Given the description of an element on the screen output the (x, y) to click on. 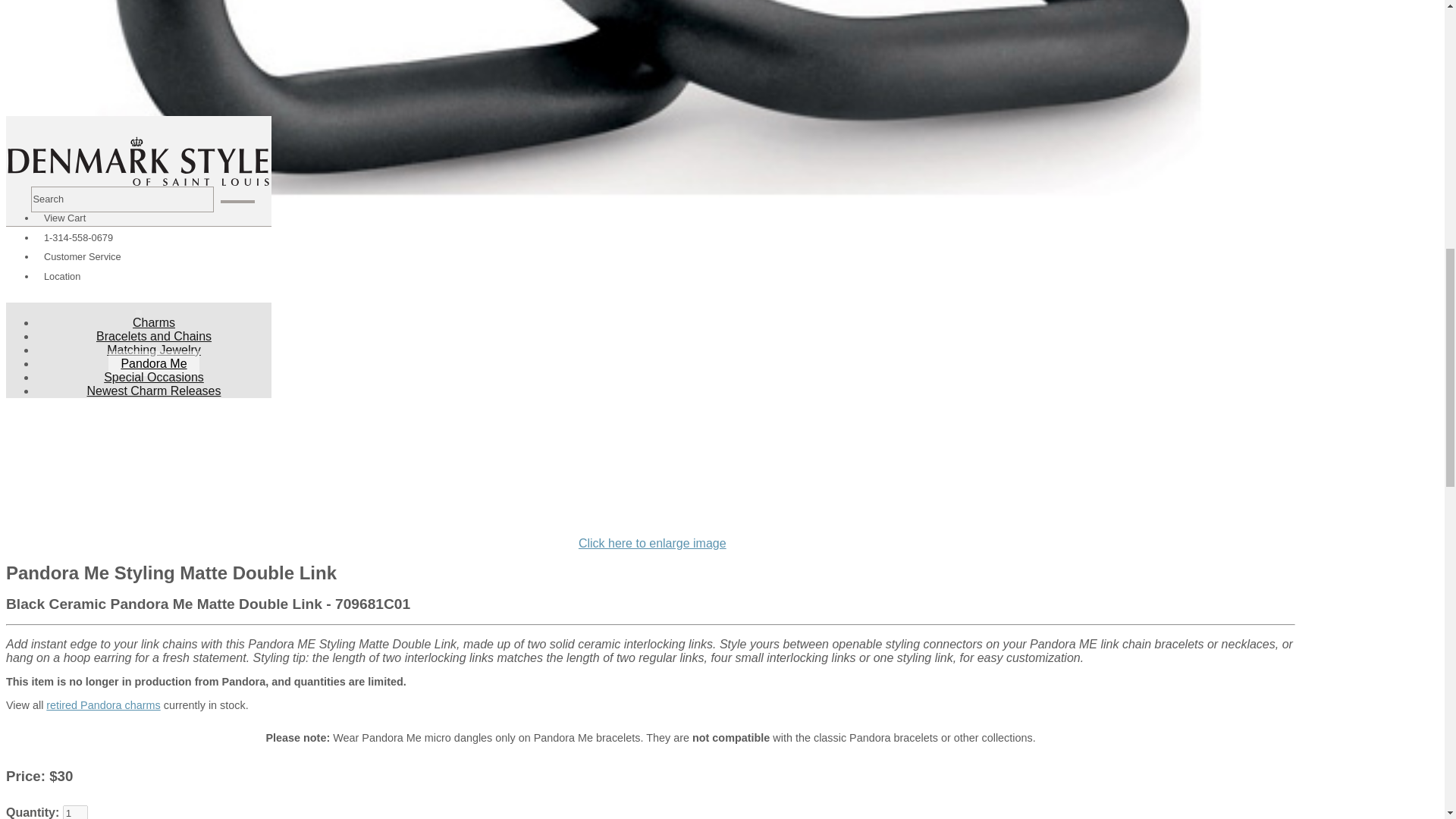
retired Pandora charms (103, 705)
1 (74, 812)
Click here to enlarge image (652, 543)
Pandora Me Styling Matte Double Link - 709681C01 (652, 543)
